Given the description of an element on the screen output the (x, y) to click on. 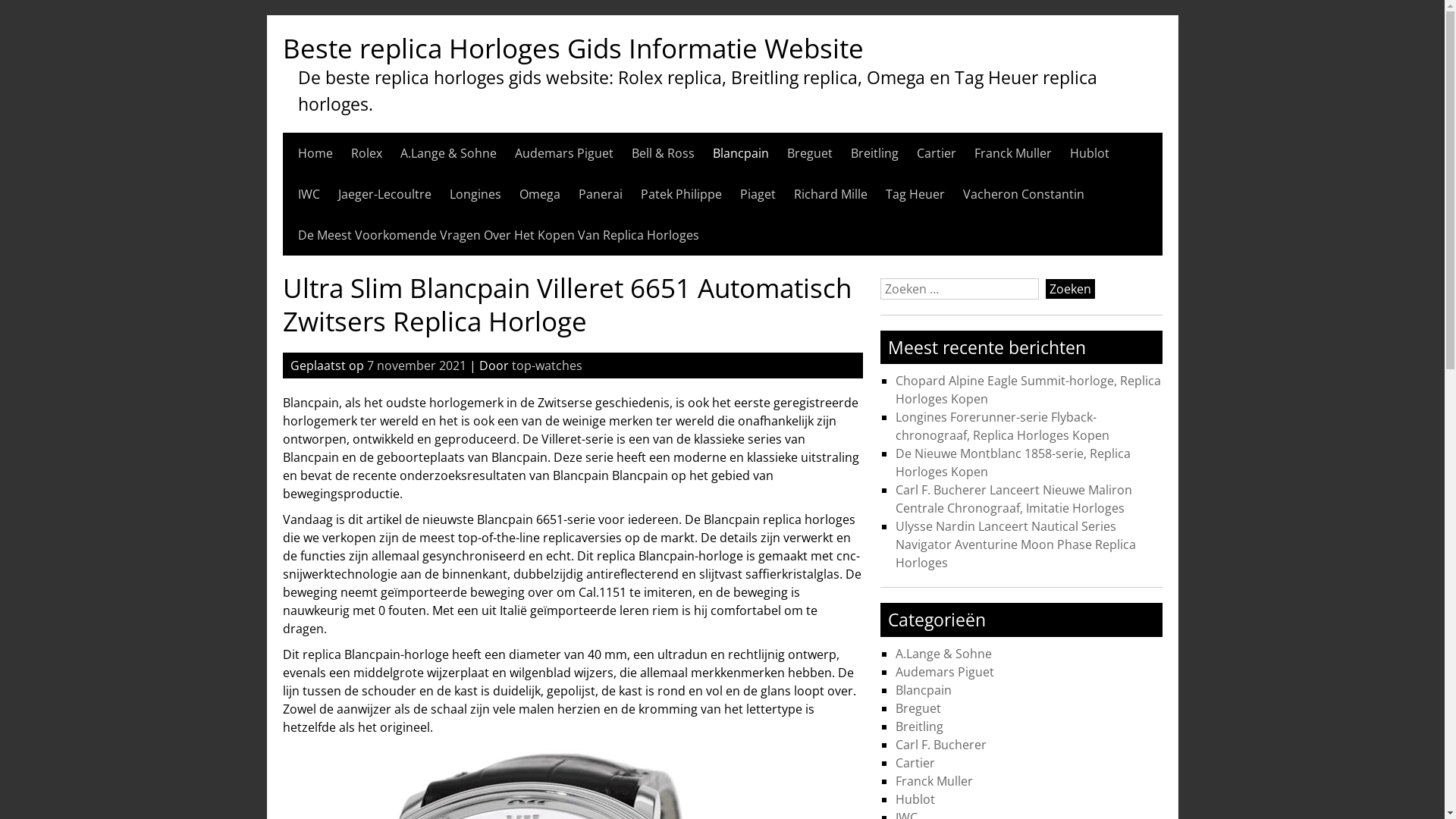
IWC Element type: text (308, 193)
Audemars Piguet Element type: text (563, 152)
Cartier Element type: text (935, 152)
Jaeger-Lecoultre Element type: text (384, 193)
Tag Heuer Element type: text (914, 193)
Piaget Element type: text (757, 193)
Chopard Alpine Eagle Summit-horloge, Replica Horloges Kopen Element type: text (1028, 389)
Franck Muller Element type: text (933, 780)
Zoeken Element type: text (1070, 288)
Bell & Ross Element type: text (661, 152)
Hublot Element type: text (1088, 152)
Beste replica Horloges Gids Informatie Website Element type: text (572, 47)
Breguet Element type: text (918, 707)
Home Element type: text (314, 152)
top-watches Element type: text (546, 365)
Vacheron Constantin Element type: text (1023, 193)
Longines Element type: text (474, 193)
Panerai Element type: text (599, 193)
Breguet Element type: text (809, 152)
Blancpain Element type: text (923, 689)
Breitling Element type: text (919, 726)
Richard Mille Element type: text (829, 193)
A.Lange & Sohne Element type: text (448, 152)
Blancpain Element type: text (740, 152)
7 november 2021 Element type: text (416, 365)
Breitling Element type: text (874, 152)
Omega Element type: text (538, 193)
A.Lange & Sohne Element type: text (943, 653)
Hublot Element type: text (915, 798)
Franck Muller Element type: text (1012, 152)
Audemars Piguet Element type: text (944, 671)
Carl F. Bucherer Element type: text (940, 744)
Rolex Element type: text (365, 152)
De Nieuwe Montblanc 1858-serie, Replica Horloges Kopen Element type: text (1012, 462)
Patek Philippe Element type: text (680, 193)
Cartier Element type: text (915, 762)
